Given the description of an element on the screen output the (x, y) to click on. 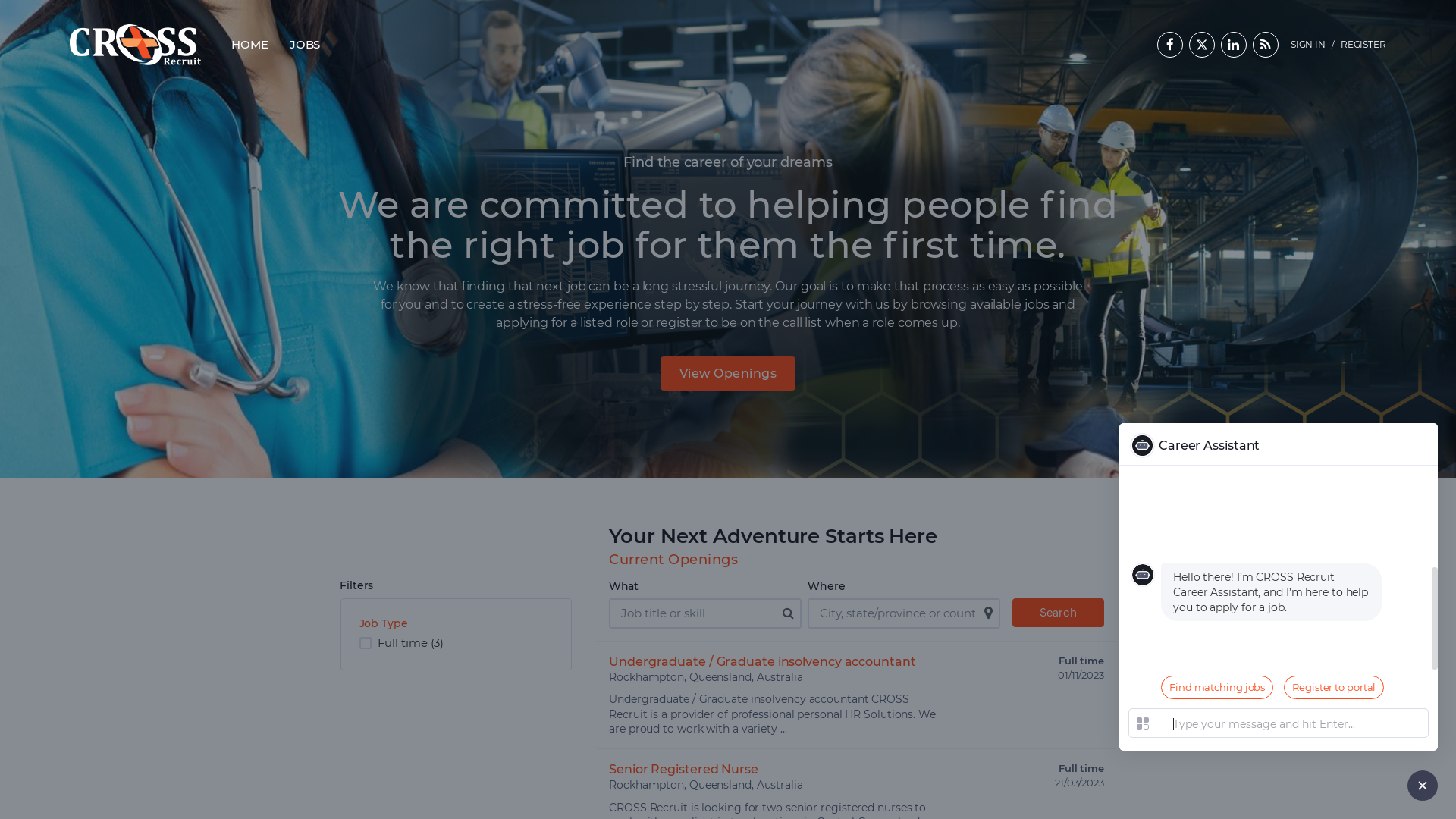
Career Assistant Element type: text (1278, 444)
JOBS Element type: text (304, 44)
REGISTER Element type: text (1363, 44)
Search Element type: text (1058, 612)
View Openings Element type: text (728, 373)
Undergraduate / Graduate insolvency accountant Element type: text (761, 661)
Senior Registered Nurse Element type: text (683, 769)
HOME Element type: text (249, 44)
SIGN IN Element type: text (1307, 44)
